Given the description of an element on the screen output the (x, y) to click on. 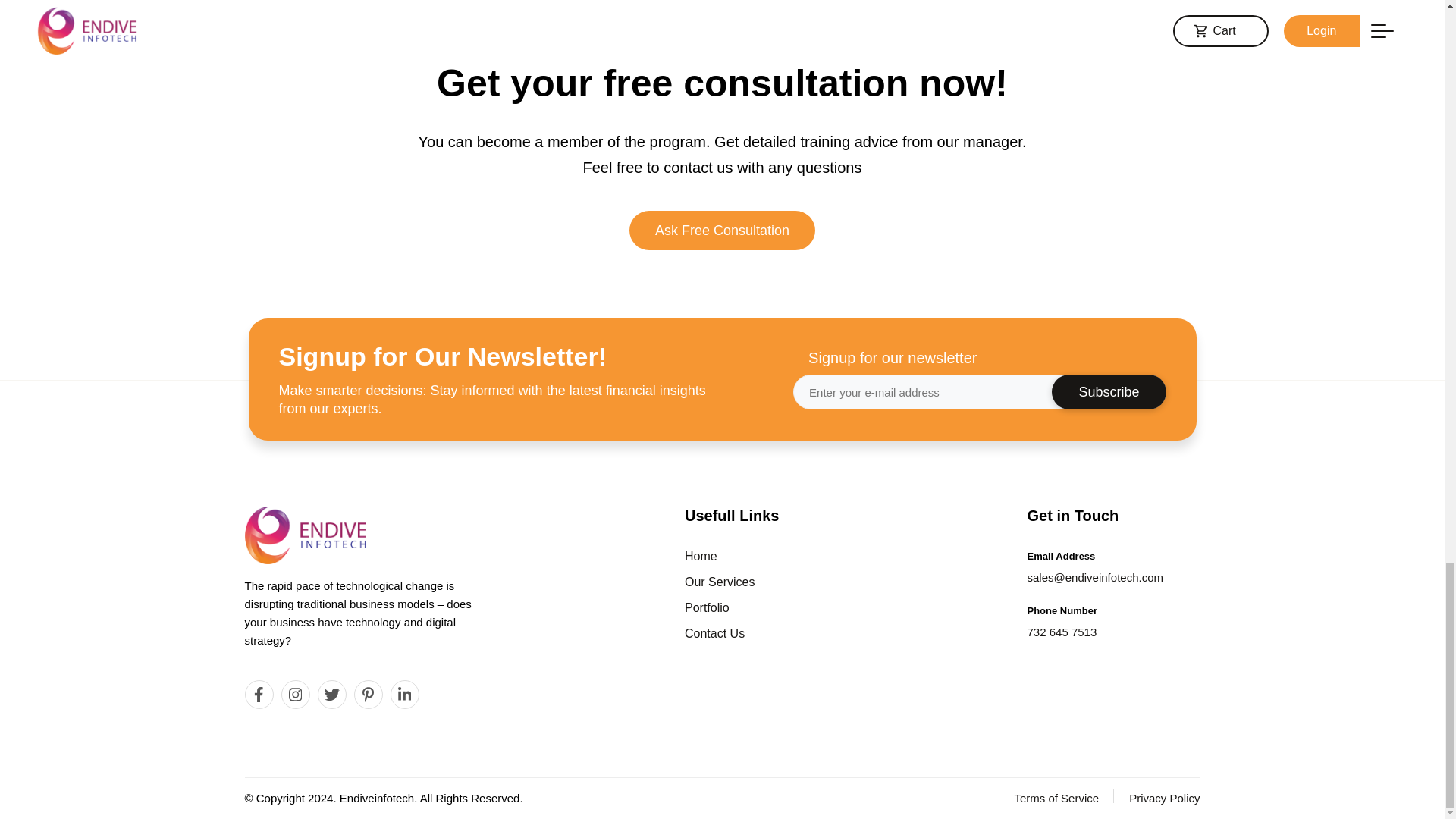
Subscribe (1108, 391)
